Given the description of an element on the screen output the (x, y) to click on. 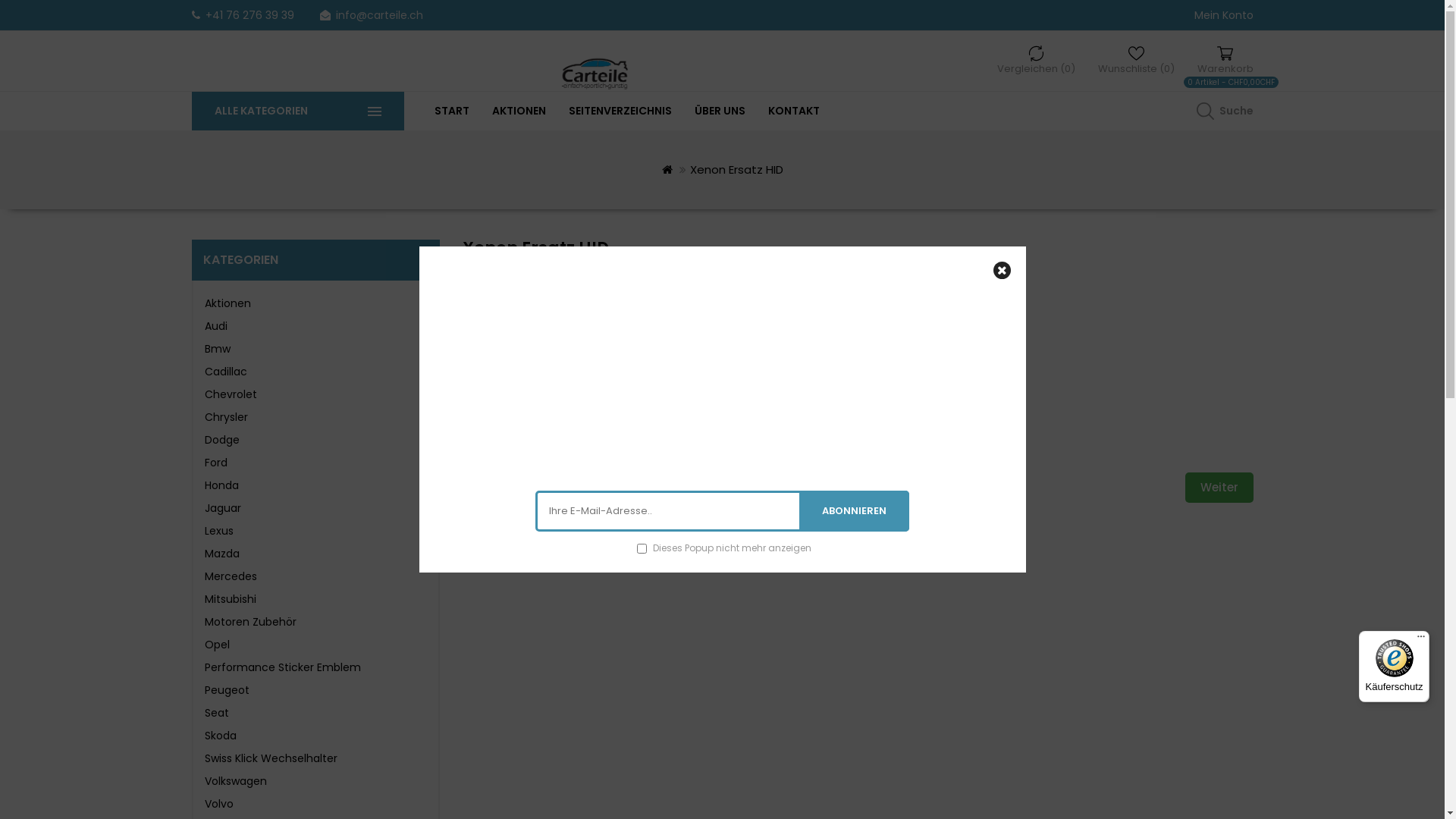
START Element type: text (450, 110)
Opel Element type: text (216, 644)
Mein Konto Element type: text (1222, 14)
Mercedes Element type: text (230, 575)
Honda Element type: text (221, 484)
Cadillac Element type: text (225, 371)
AKTIONEN Element type: text (518, 110)
Xenon Ersatz HID Element type: text (736, 169)
Warenkorb
0 Artikel - CHF0,00CHF Element type: text (1224, 60)
KONTAKT Element type: text (793, 110)
Jaguar Element type: text (222, 507)
Mazda Element type: text (221, 553)
Volvo Element type: text (218, 803)
info@carteile.ch Element type: text (377, 14)
SEITENVERZEICHNIS Element type: text (619, 110)
Wunschliste (0) Element type: text (1136, 60)
Mitsubishi Element type: text (230, 598)
Skoda Element type: text (220, 735)
Ford Element type: text (215, 462)
Dodge Element type: text (221, 439)
Lexus Element type: text (218, 530)
Carteile Element type: hover (593, 73)
Aktionen Element type: text (227, 302)
Chrysler Element type: text (225, 416)
Performance Sticker Emblem Element type: text (282, 666)
ABONNIEREN Element type: text (854, 510)
Bmw Element type: text (217, 348)
Seat Element type: text (216, 712)
Swiss Klick Wechselhalter Element type: text (270, 757)
Peugeot Element type: text (226, 689)
Xenon Ersatz HID Element type: hover (857, 348)
Volkswagen Element type: text (235, 780)
Audi Element type: text (215, 325)
Chevrolet Element type: text (230, 393)
Weiter Element type: text (1218, 487)
Vergleichen (0) Element type: text (1035, 60)
